Given the description of an element on the screen output the (x, y) to click on. 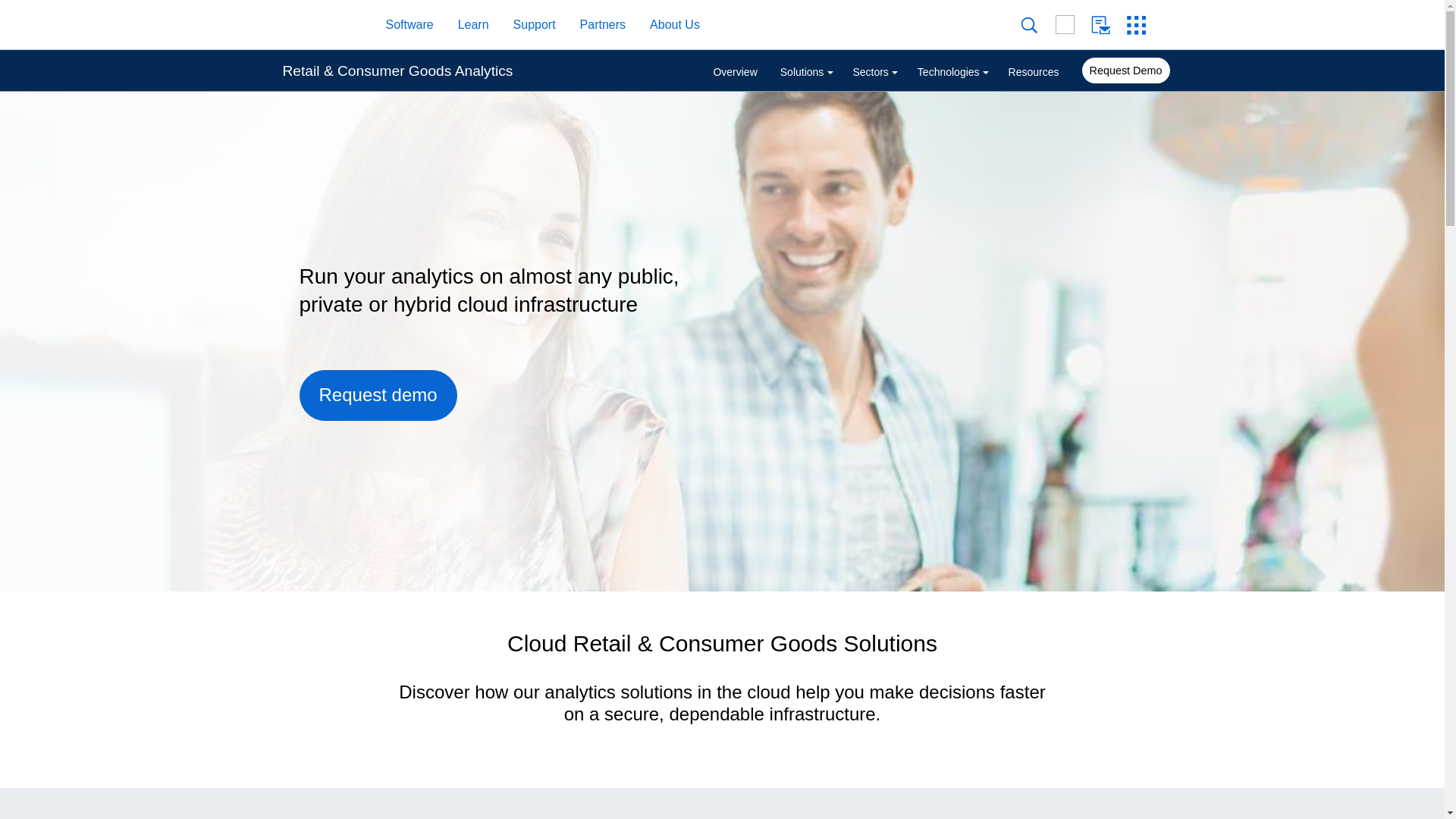
Partners (595, 24)
Learn (472, 24)
About Us (674, 24)
Partners (602, 24)
Search (1037, 25)
Learn (465, 24)
Software (401, 24)
SAS Sites (1141, 25)
Contact Us (1108, 25)
Support (534, 24)
Support (526, 24)
Software (409, 24)
About Us (667, 24)
Worldwide Sites (1072, 24)
